Given the description of an element on the screen output the (x, y) to click on. 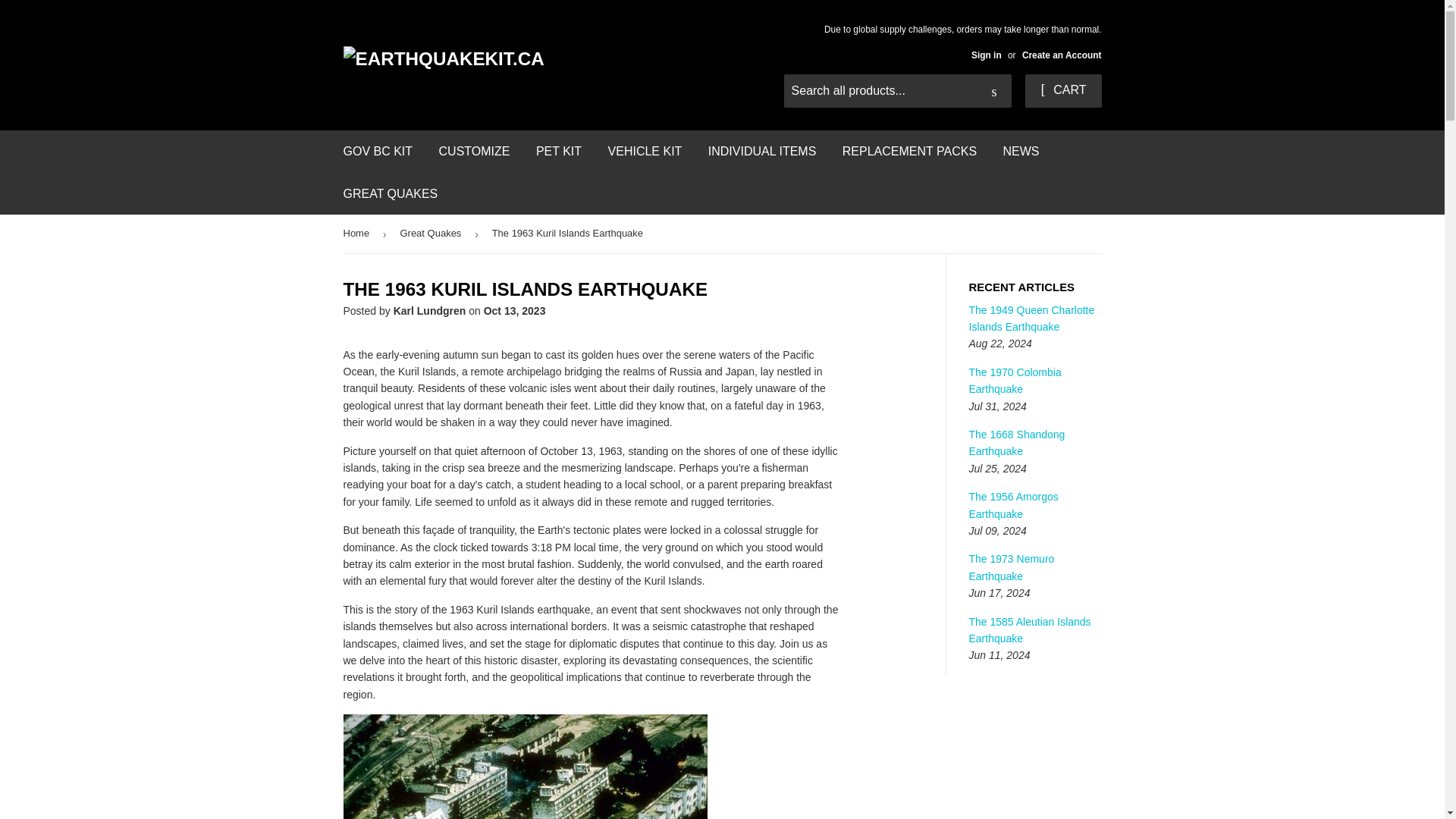
PET KIT (558, 151)
CUSTOMIZE (474, 151)
Create an Account (1062, 54)
GOV BC KIT (378, 151)
NEWS (1021, 151)
INDIVIDUAL ITEMS (762, 151)
REPLACEMENT PACKS (909, 151)
Great Quakes (431, 233)
GREAT QUAKES (390, 193)
CART (1062, 90)
